Given the description of an element on the screen output the (x, y) to click on. 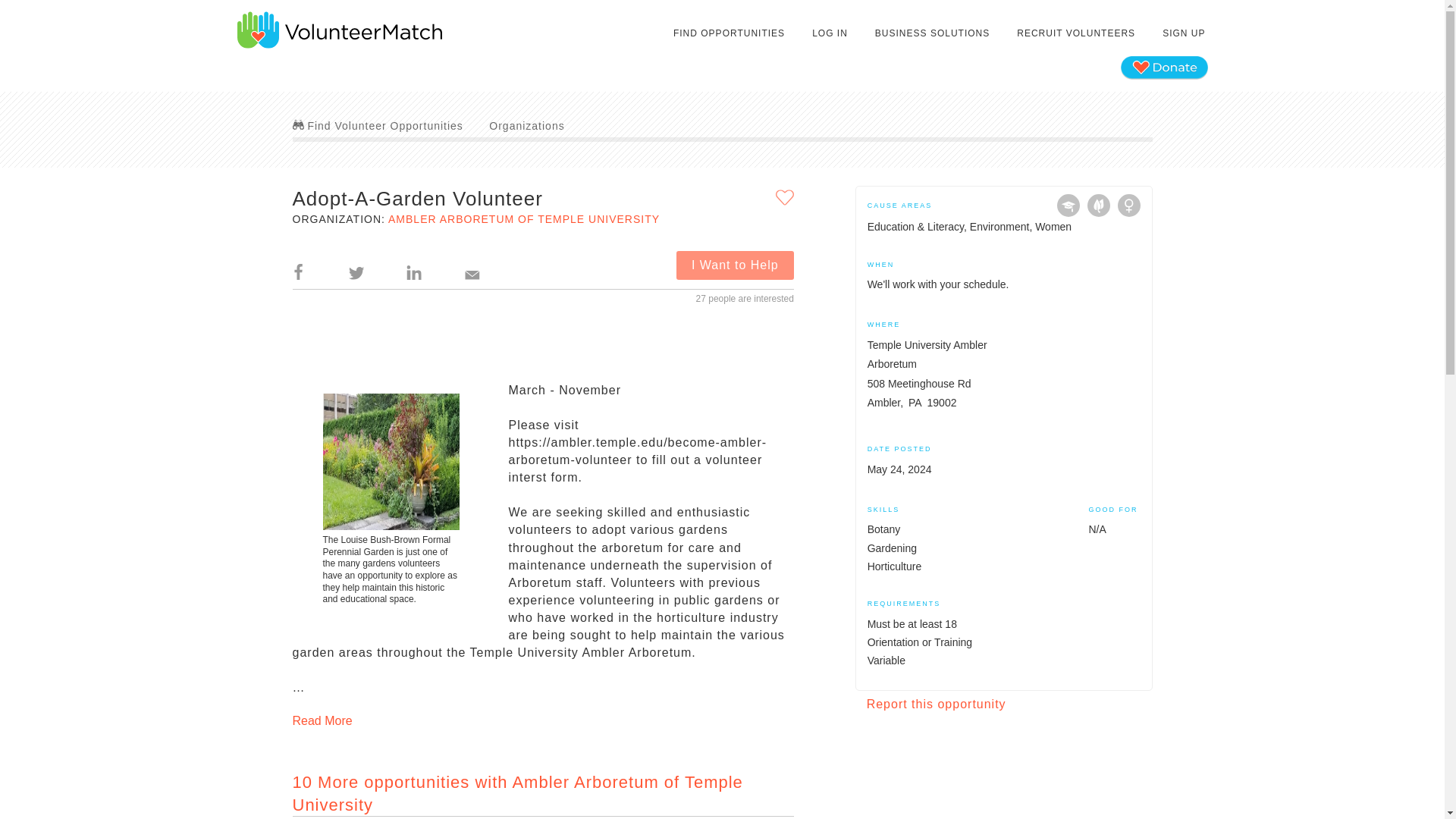
BUSINESS SOLUTIONS (931, 32)
Facebook (298, 264)
Environment (1098, 205)
LOG IN (829, 32)
Formal Garden (391, 461)
AMBLER ARBORETUM OF TEMPLE UNIVERSITY (523, 218)
Email (472, 264)
Report this opportunity (936, 703)
I Want to Help (735, 265)
LinkedIn (414, 264)
Organizations (526, 125)
I Want to Help (735, 265)
RECRUIT VOLUNTEERS (1075, 32)
Find Volunteer Opportunities (377, 125)
